Given the description of an element on the screen output the (x, y) to click on. 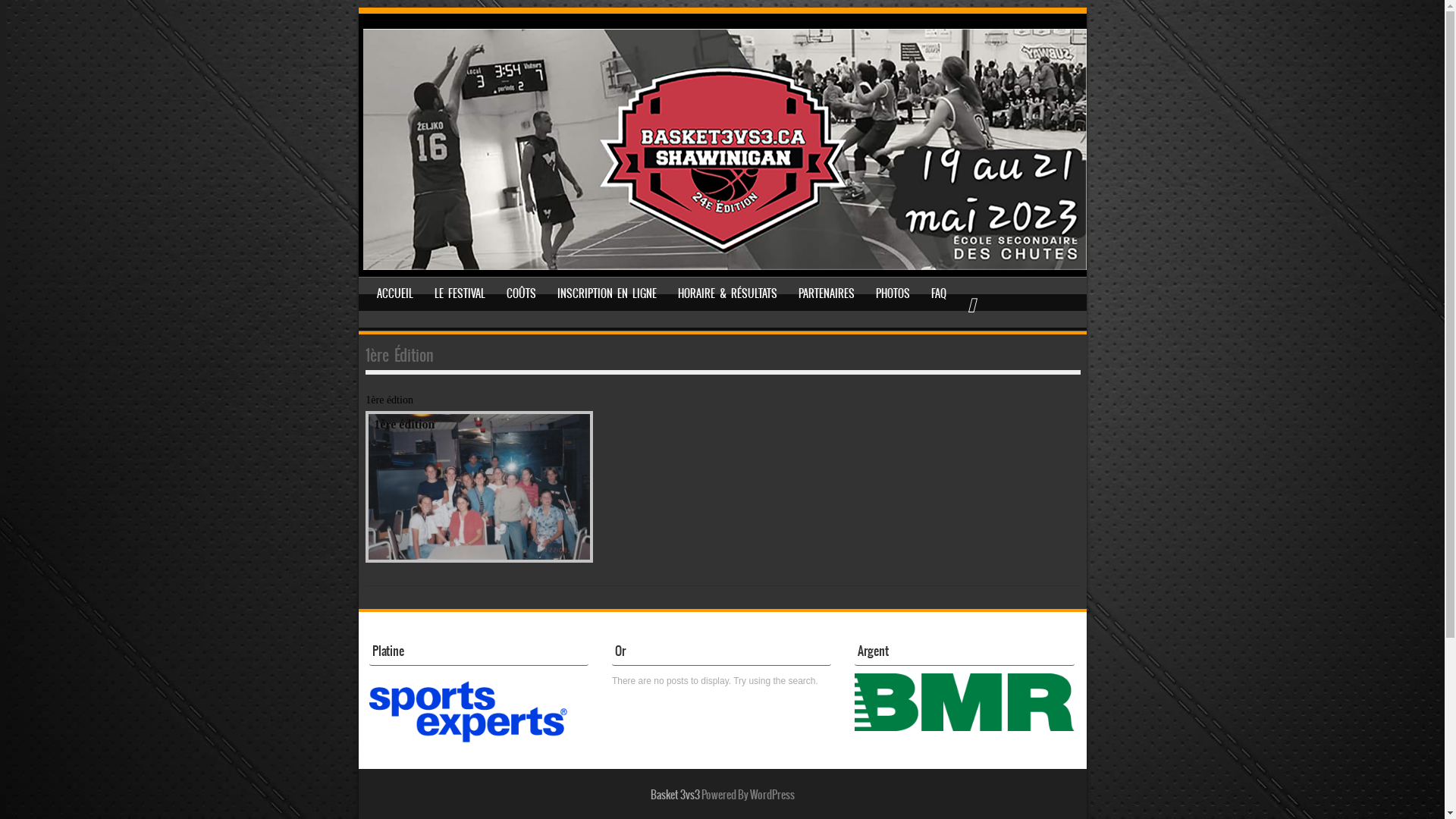
ACCUEIL Element type: text (394, 293)
PARTENAIRES Element type: text (826, 293)
Basket3vs3.ca Element type: hover (723, 266)
LE FESTIVAL Element type: text (459, 293)
Basket 3vs3 Element type: text (674, 794)
PHOTOS Element type: text (892, 293)
SKIP TO CONTENT Element type: text (403, 293)
INSCRIPTION EN LIGNE Element type: text (606, 293)
FAQ Element type: text (938, 293)
